Given the description of an element on the screen output the (x, y) to click on. 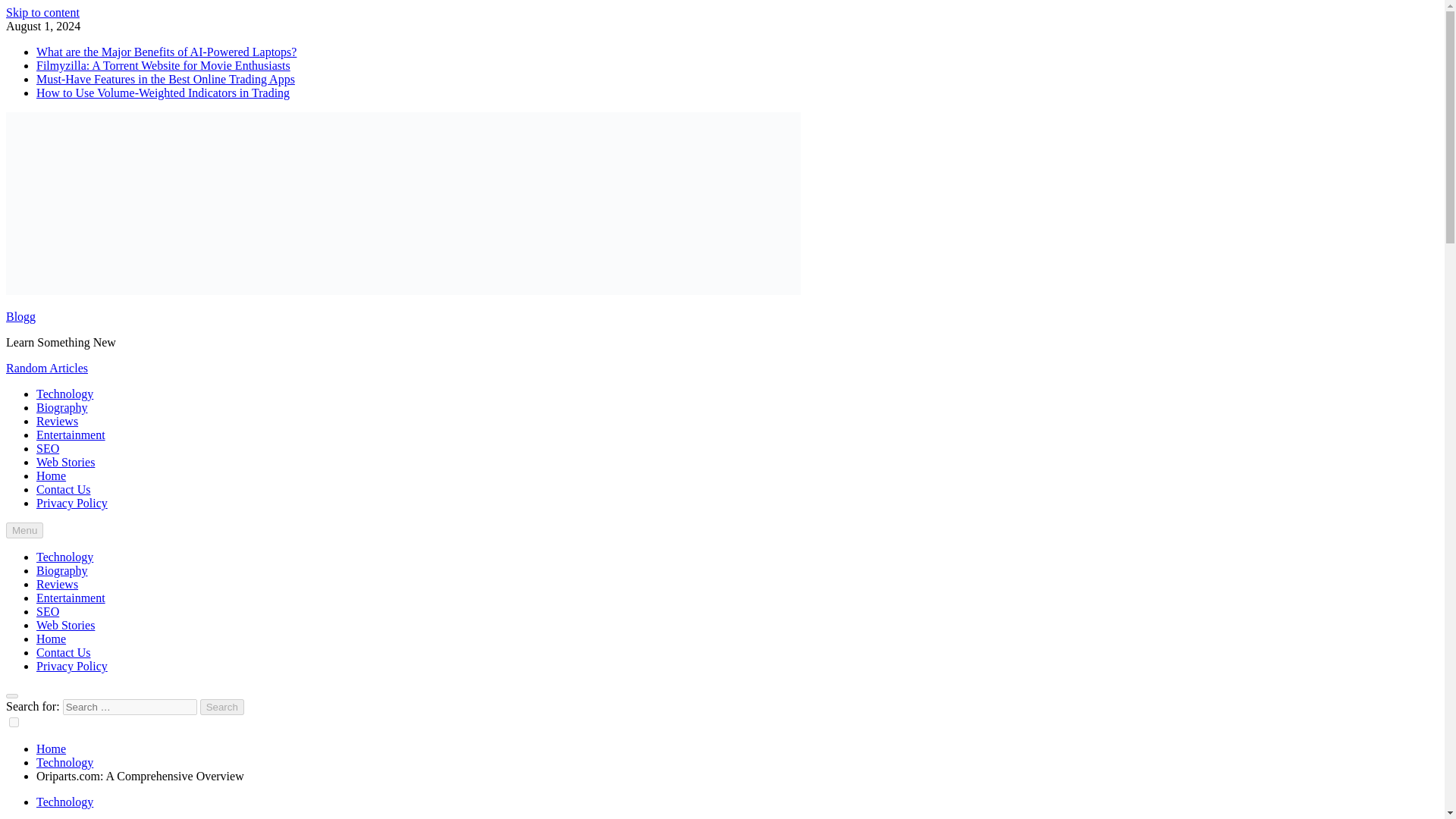
Entertainment (70, 434)
Privacy Policy (71, 502)
Skip to content (42, 11)
How to Use Volume-Weighted Indicators in Trading (162, 92)
Reviews (57, 420)
SEO (47, 448)
Search (222, 706)
Home (50, 748)
Must-Have Features in the Best Online Trading Apps (165, 78)
on (13, 722)
Privacy Policy (71, 666)
Menu (24, 530)
What are the Major Benefits of AI-Powered Laptops? (166, 51)
Biography (61, 570)
Filmyzilla: A Torrent Website for Movie Enthusiasts (162, 65)
